Given the description of an element on the screen output the (x, y) to click on. 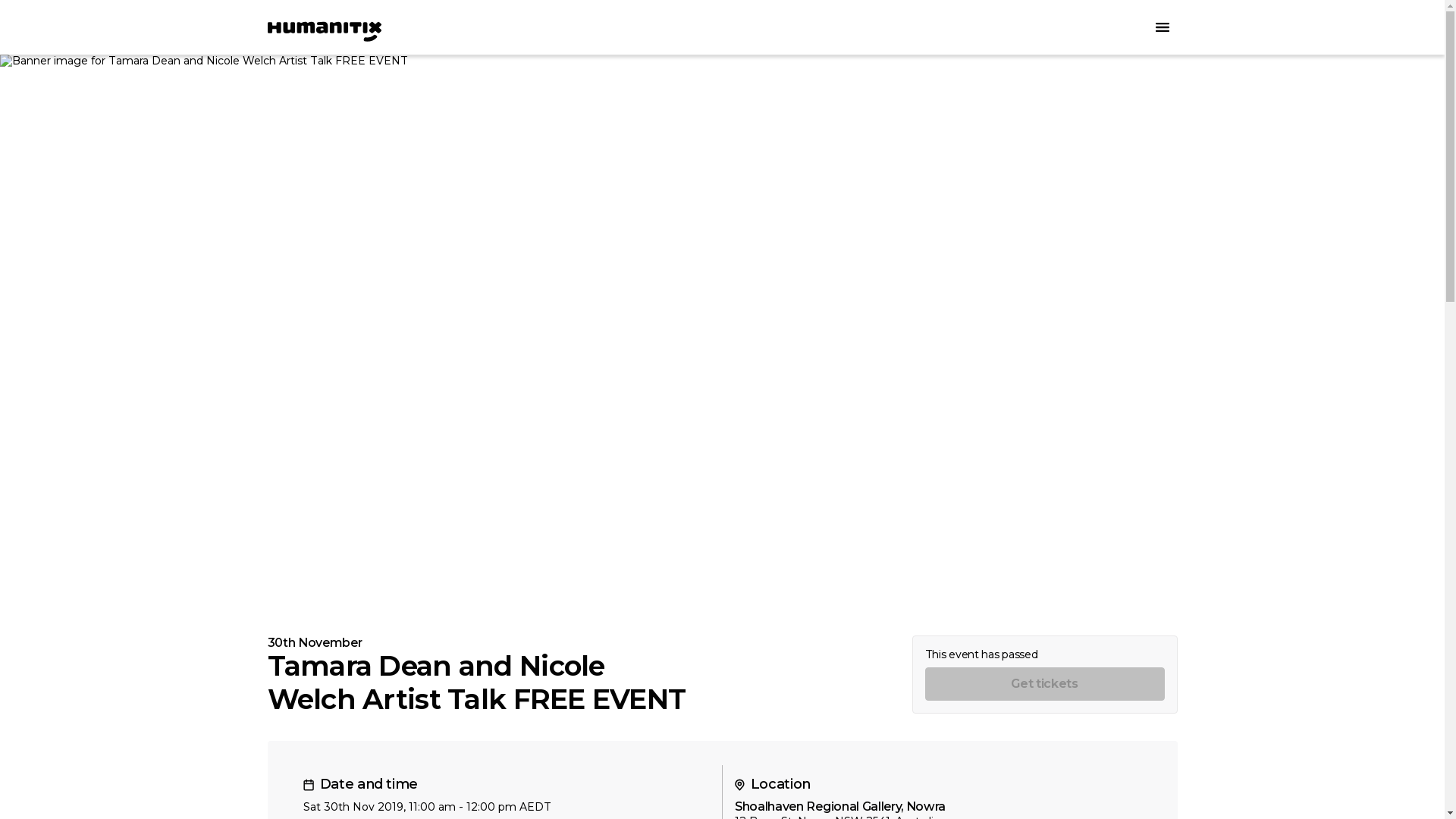
Get tickets Element type: text (1044, 683)
